Given the description of an element on the screen output the (x, y) to click on. 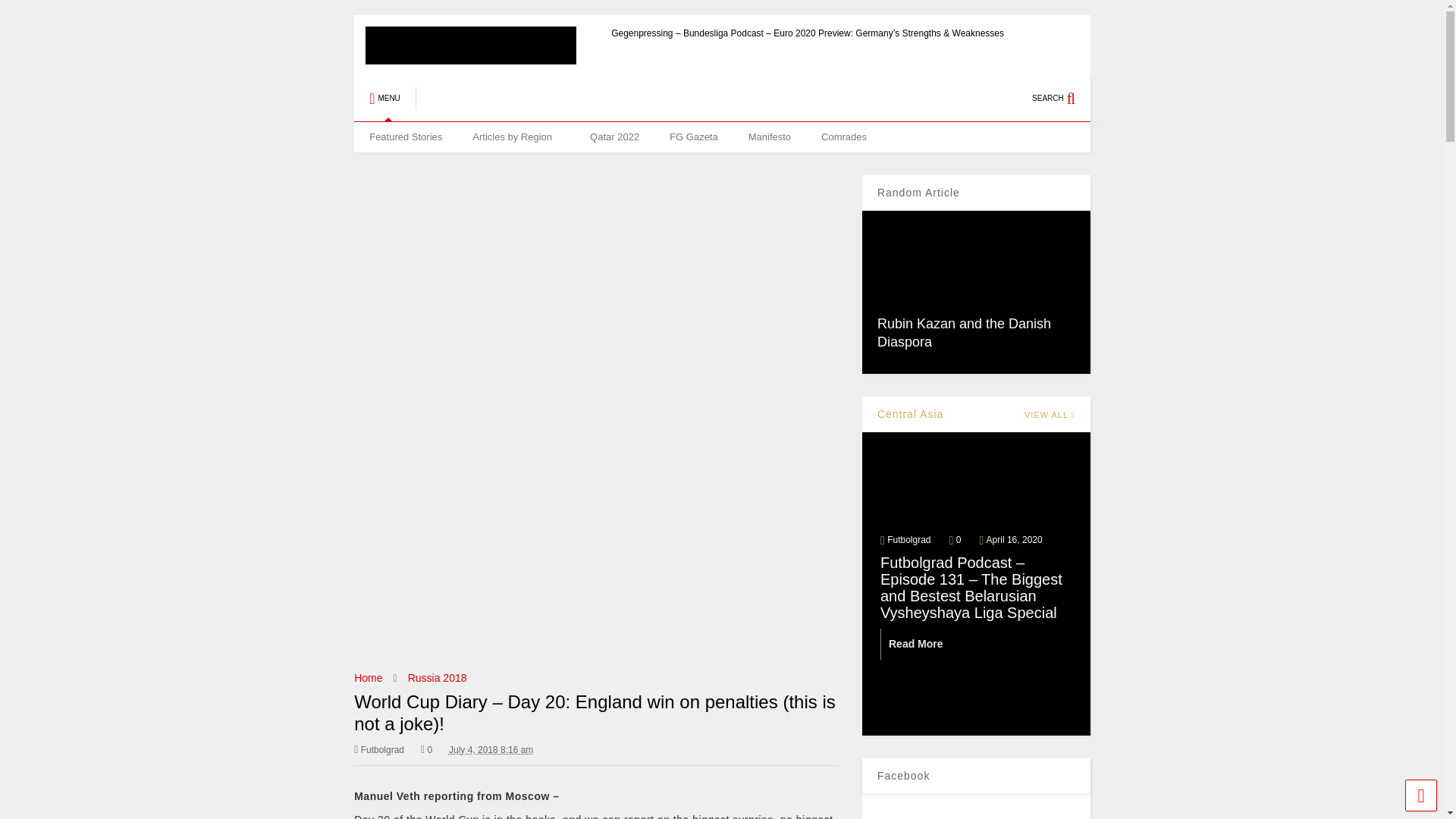
Manifesto (769, 137)
all articles (516, 137)
Russia 2018 (437, 677)
Comrades (844, 137)
Home (367, 677)
Futbolgrad (544, 102)
Featured Stories (405, 137)
July 4, 2018 8:16 am (490, 749)
home (405, 137)
Articles by Region (516, 137)
MENU (383, 98)
FG Gazeta (693, 137)
Qatar 2022 (614, 137)
SEARCH (1061, 98)
Futbolgrad (378, 749)
